Given the description of an element on the screen output the (x, y) to click on. 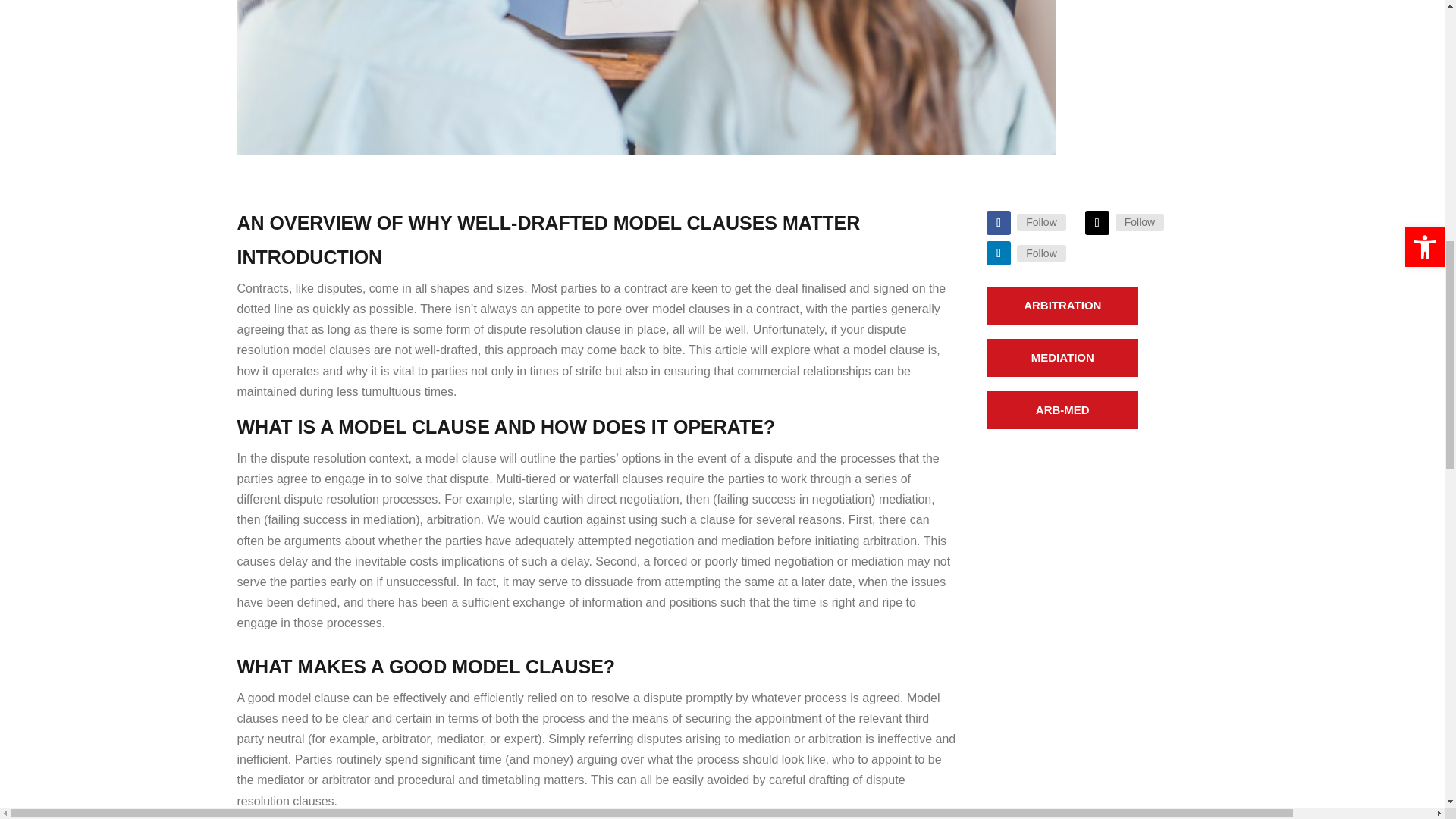
LinkedIn (1040, 252)
Follow on Facebook (998, 222)
Follow on Twitter (1096, 222)
Facebook (1040, 221)
Twitter (1139, 221)
Follow on LinkedIn (998, 252)
